Given the description of an element on the screen output the (x, y) to click on. 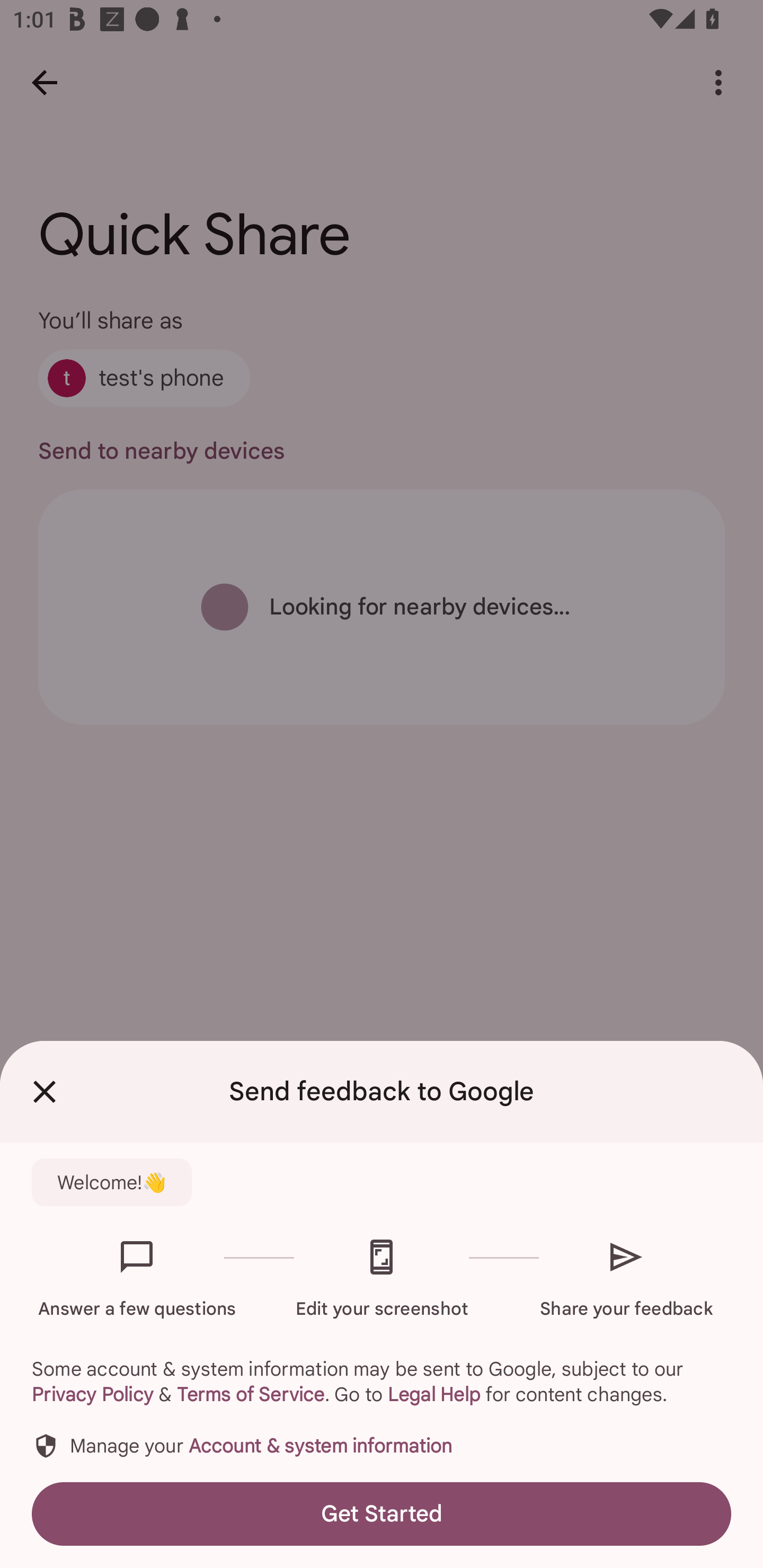
Close Feedback (44, 1091)
Get Started (381, 1513)
